Given the description of an element on the screen output the (x, y) to click on. 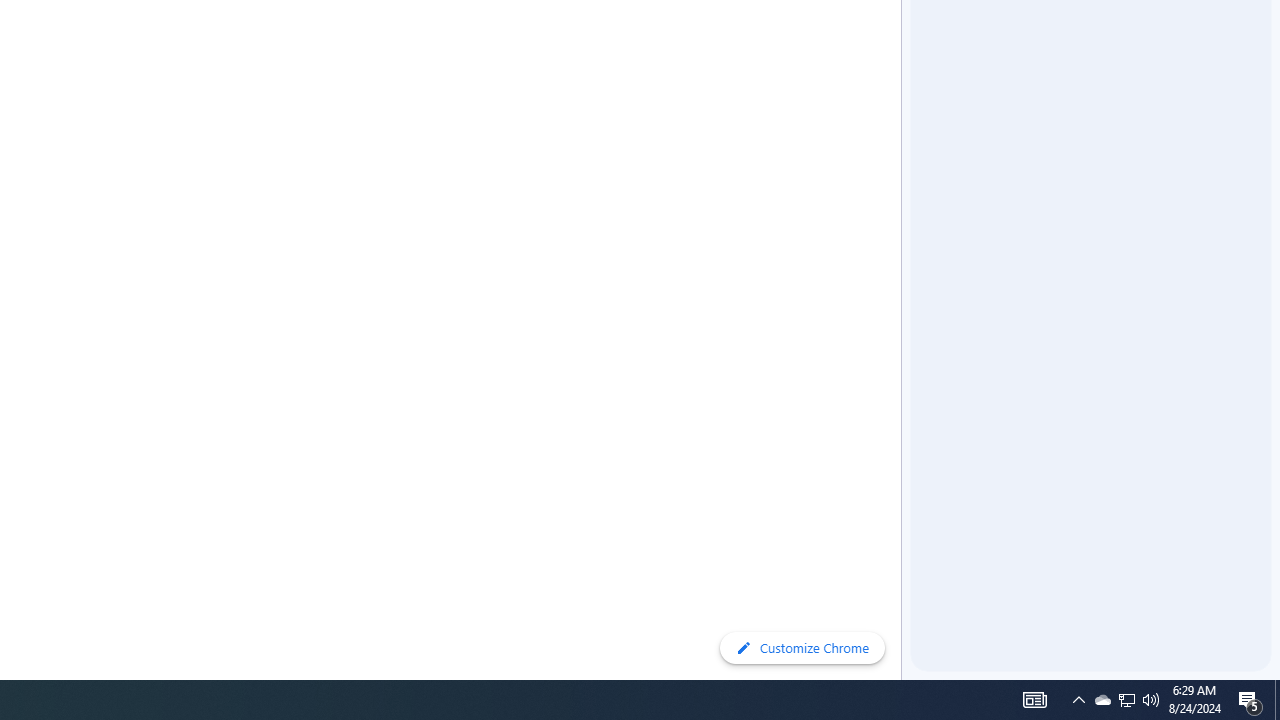
Customize Chrome (801, 647)
Side Panel Resize Handle (905, 39)
